Given the description of an element on the screen output the (x, y) to click on. 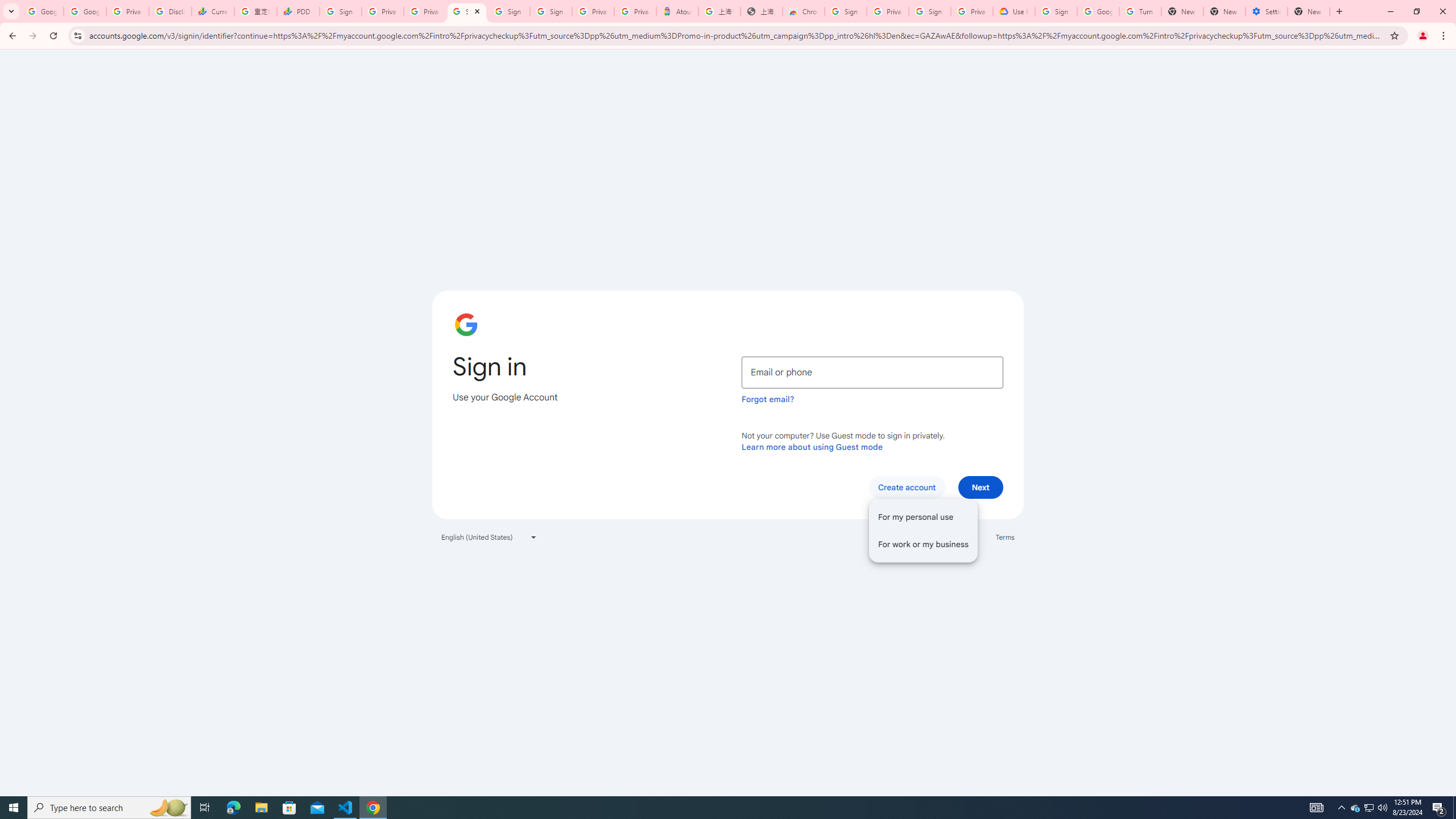
Create account (921, 529)
Sign in - Google Accounts (1055, 11)
Learn more about using Guest mode (812, 446)
Sign in - Google Accounts (550, 11)
Chrome Web Store - Color themes by Chrome (803, 11)
For work or my business (921, 543)
Google Workspace Admin Community (42, 11)
